Given the description of an element on the screen output the (x, y) to click on. 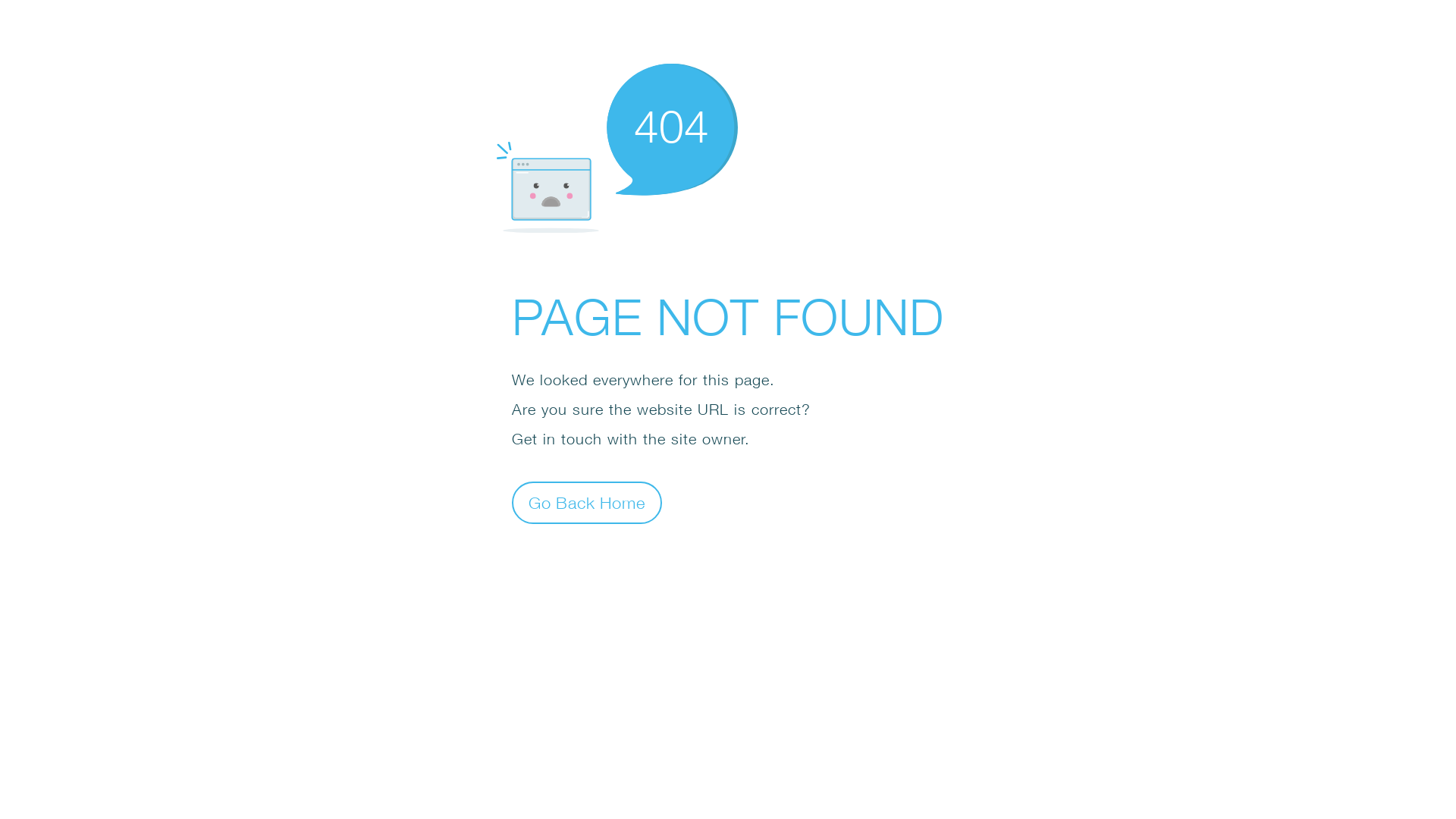
Go Back Home Element type: text (586, 502)
